Given the description of an element on the screen output the (x, y) to click on. 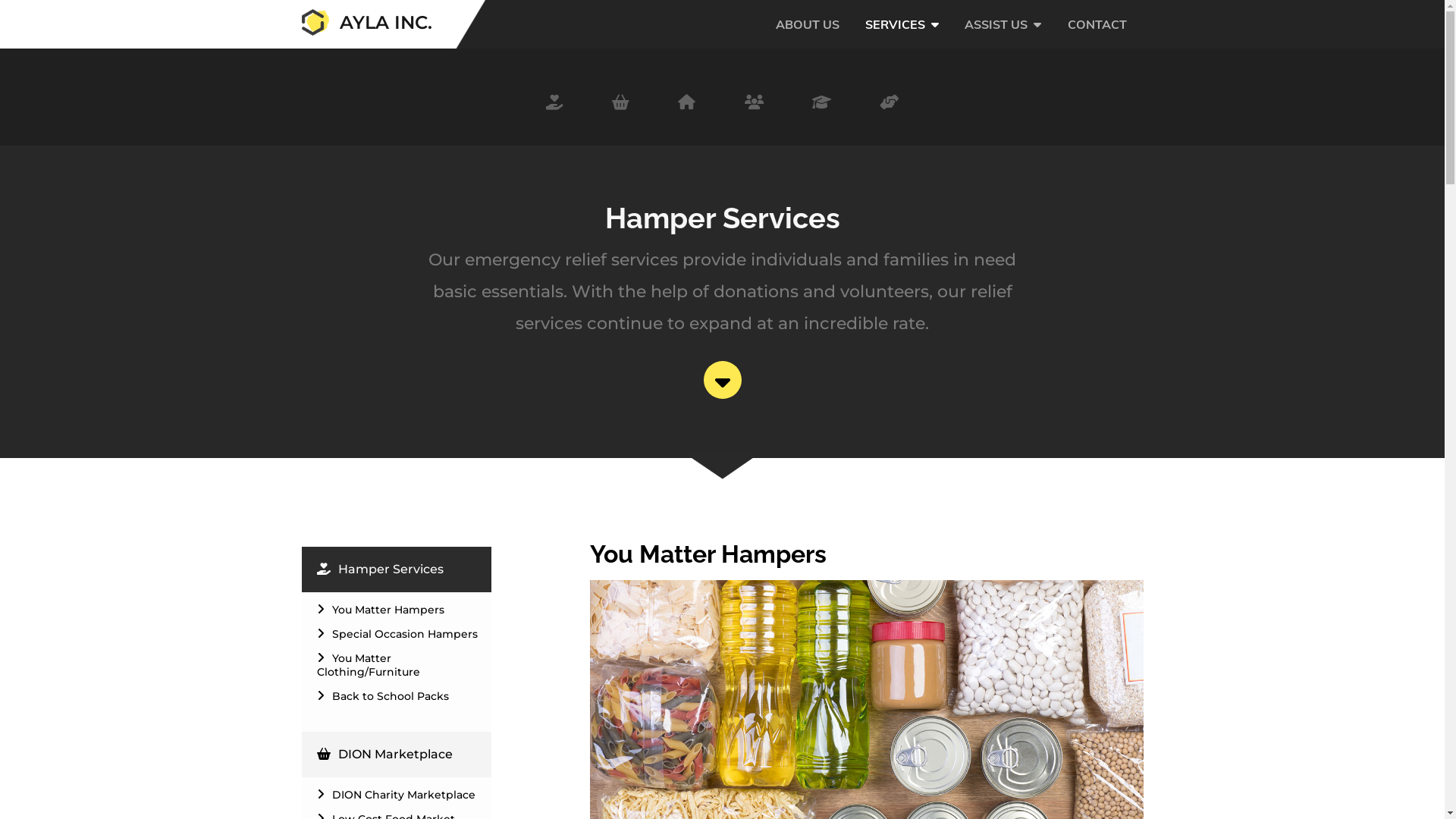
Hamper Services Element type: text (403, 569)
CONTACT Element type: text (1096, 39)
DION Charity Marketplace Element type: text (399, 794)
ABOUT US Element type: text (807, 39)
You Matter Clothing/Furniture Element type: text (399, 664)
Special Occasion Hampers Element type: text (399, 633)
You Matter Hampers Element type: text (399, 609)
DION Marketplace Element type: text (403, 754)
AYLA INC. Element type: text (366, 33)
Back to School Packs Element type: text (399, 695)
